Given the description of an element on the screen output the (x, y) to click on. 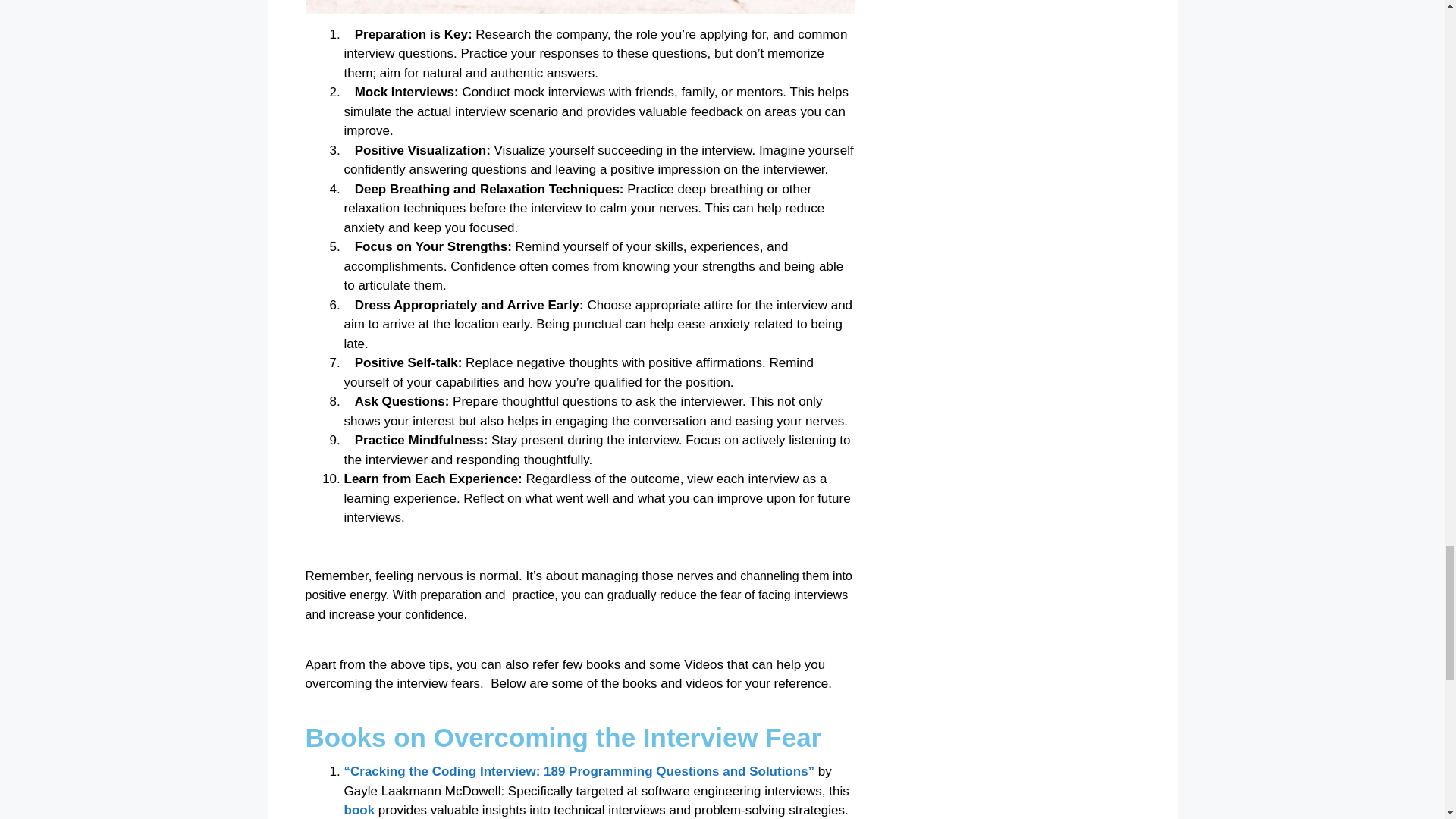
book (359, 810)
